Given the description of an element on the screen output the (x, y) to click on. 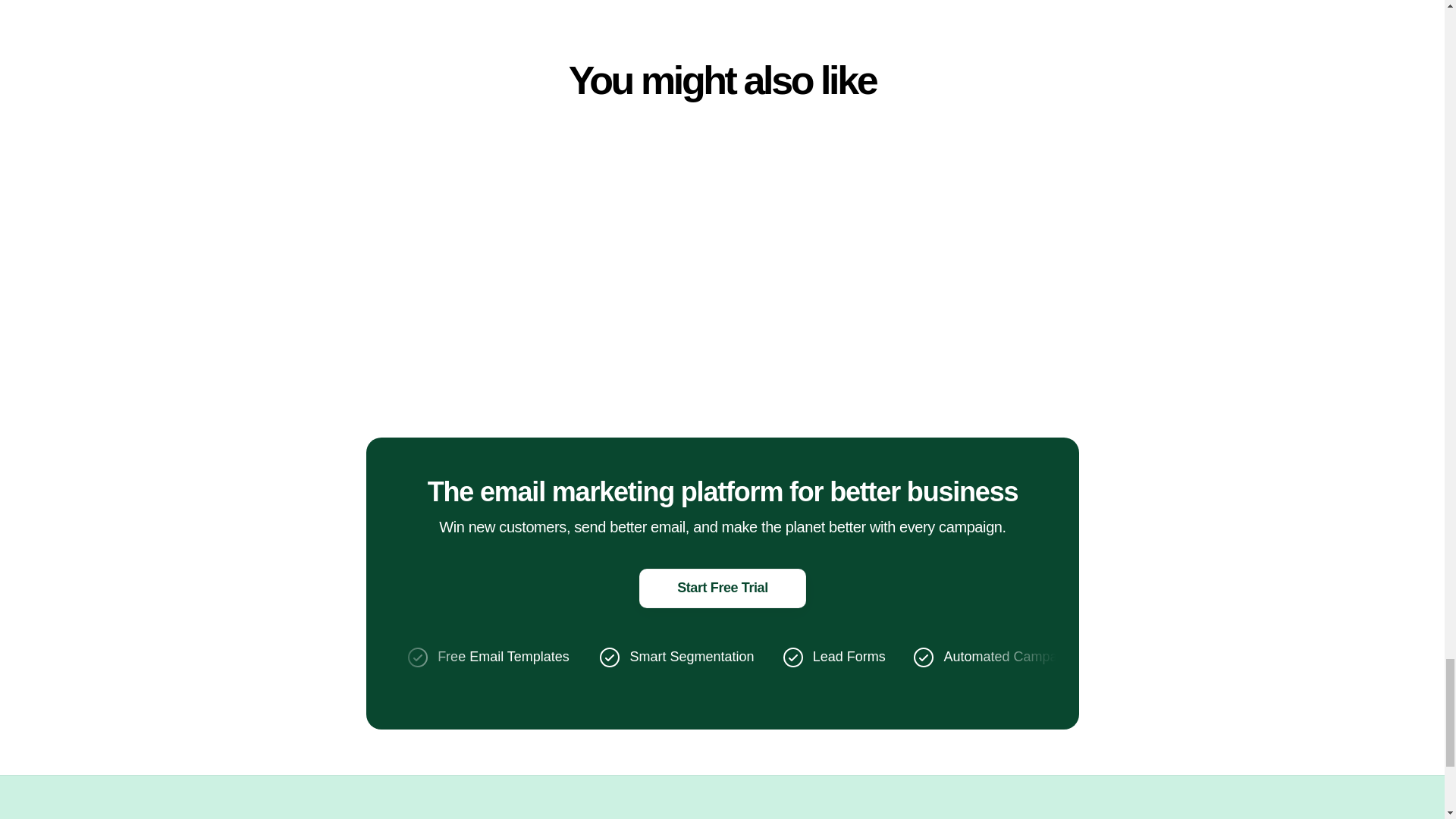
Start Free Trial (722, 588)
